Given the description of an element on the screen output the (x, y) to click on. 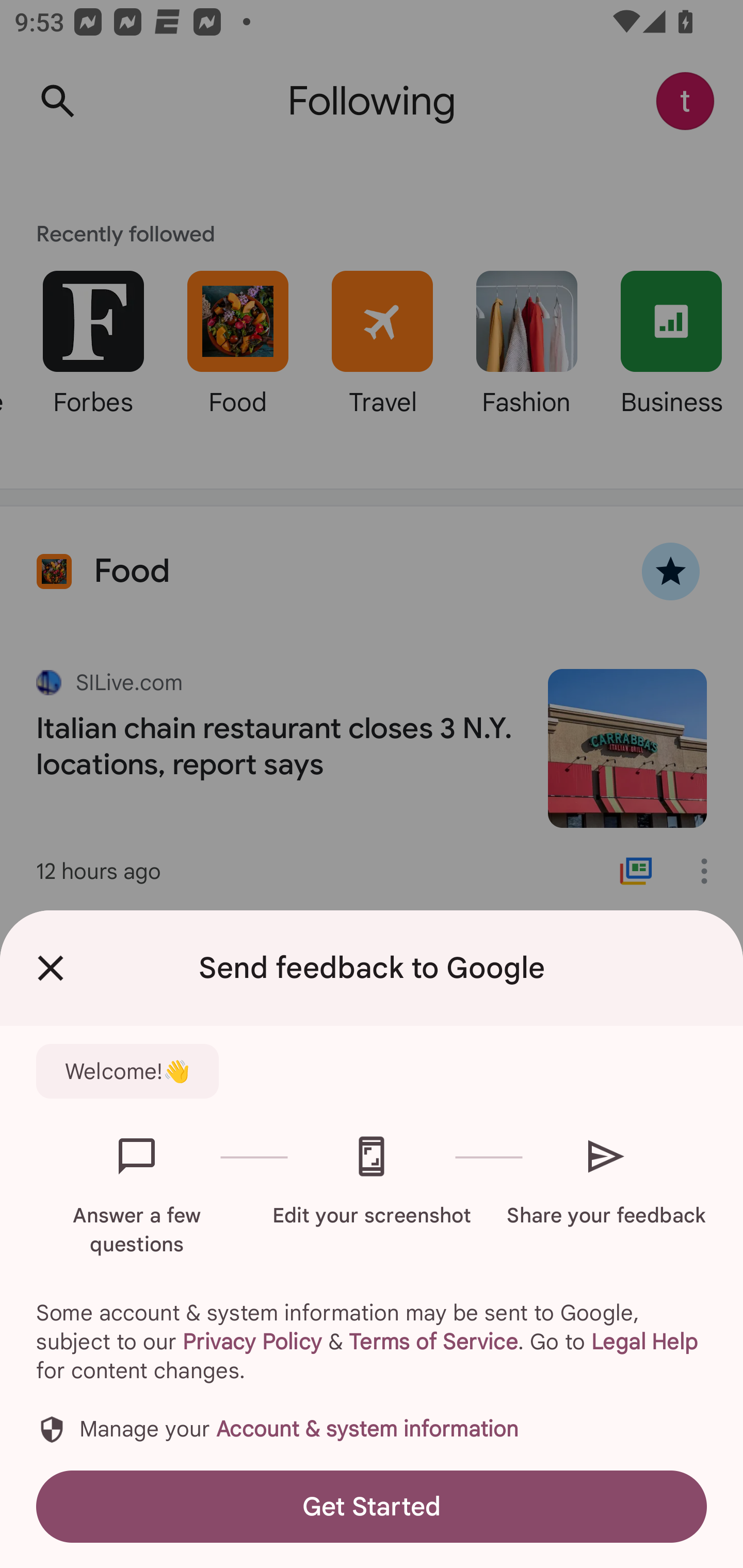
Close Feedback (50, 968)
Get Started (371, 1505)
